Given the description of an element on the screen output the (x, y) to click on. 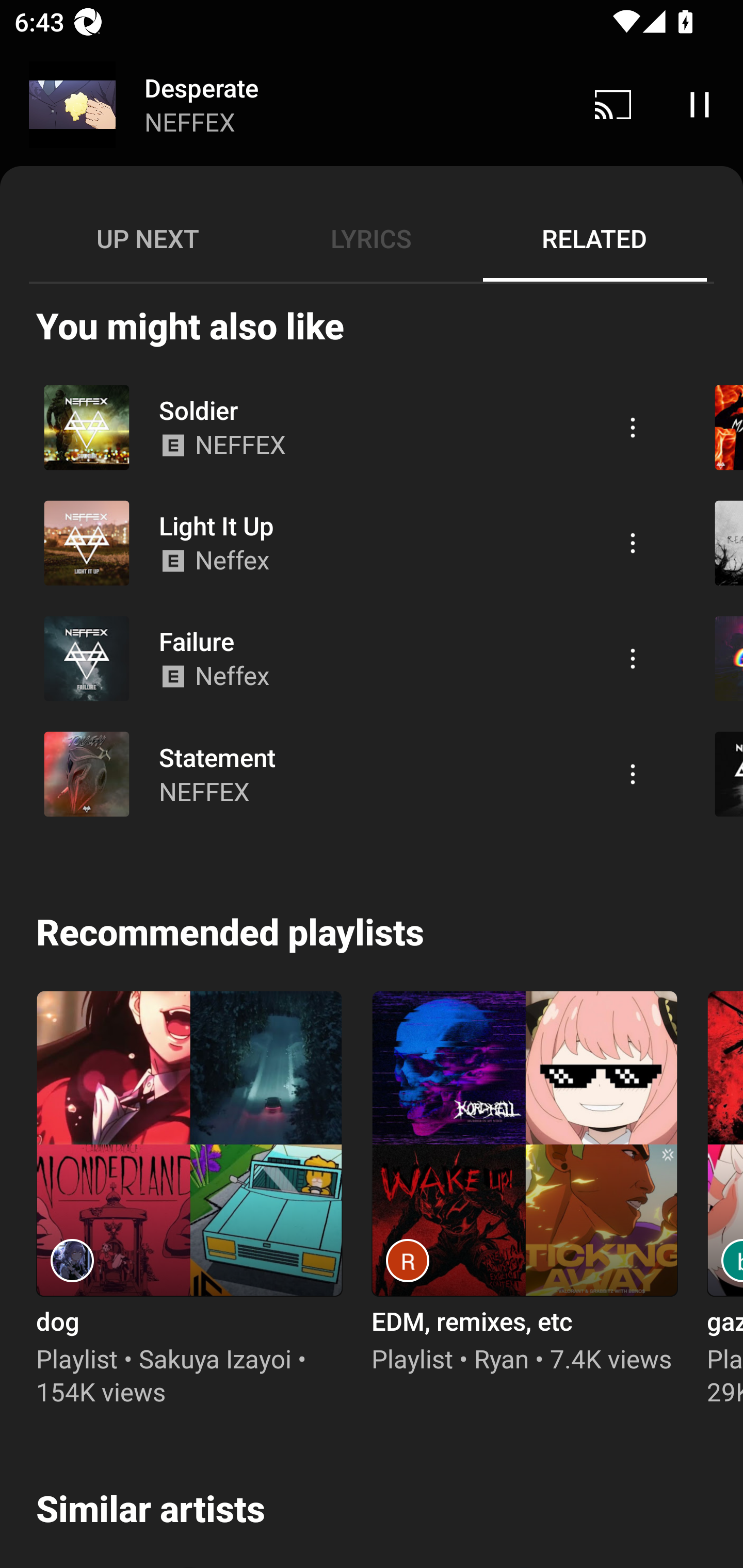
Desperate NEFFEX (284, 104)
Cast. Disconnected (612, 104)
Pause video (699, 104)
Up next UP NEXT (147, 238)
Lyrics LYRICS (370, 238)
Menu (632, 428)
Menu (632, 542)
Menu (632, 658)
Menu (632, 774)
